Given the description of an element on the screen output the (x, y) to click on. 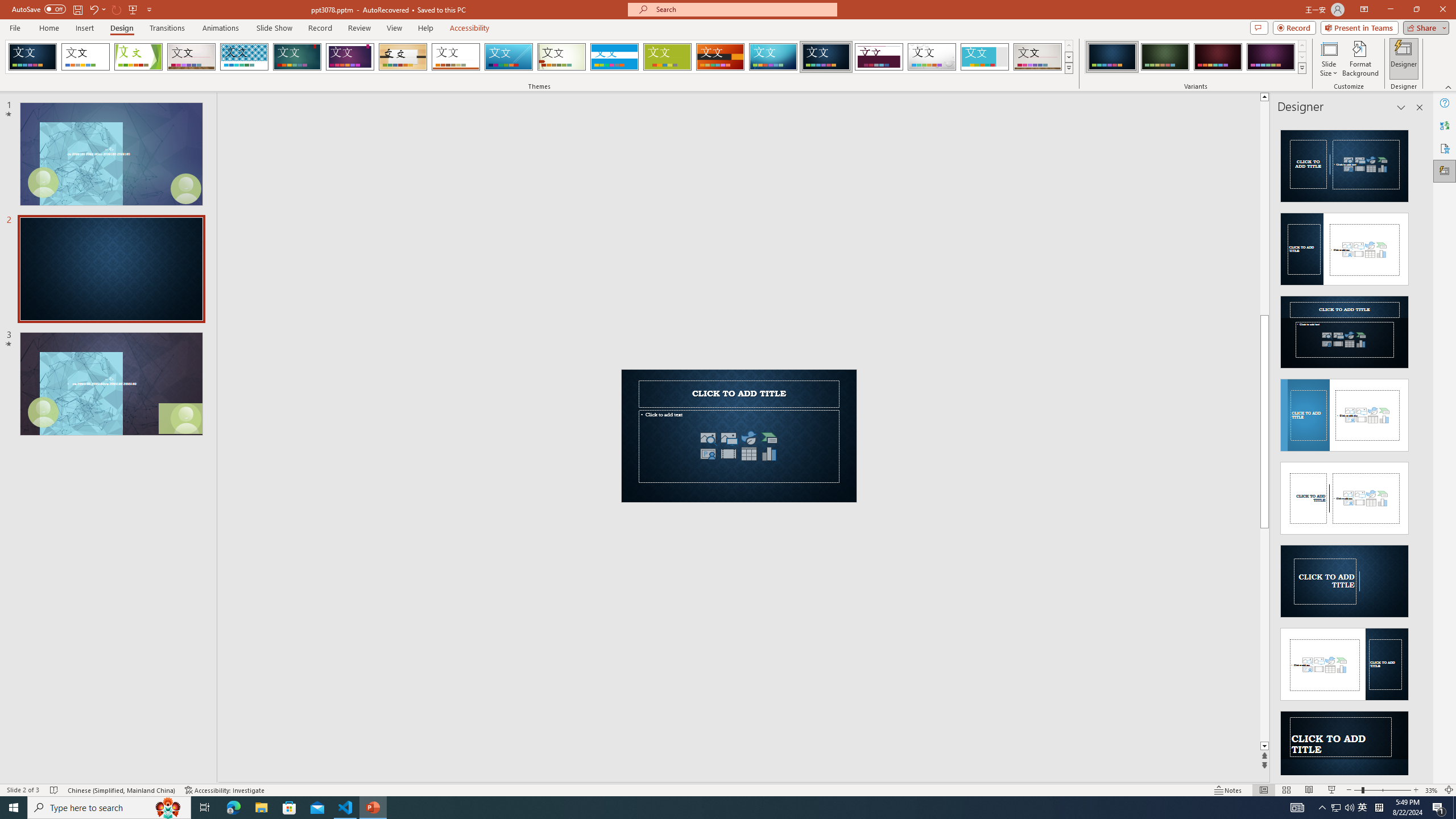
Banded (614, 56)
Stock Images (707, 437)
Insert Table (748, 453)
Damask (826, 56)
